Given the description of an element on the screen output the (x, y) to click on. 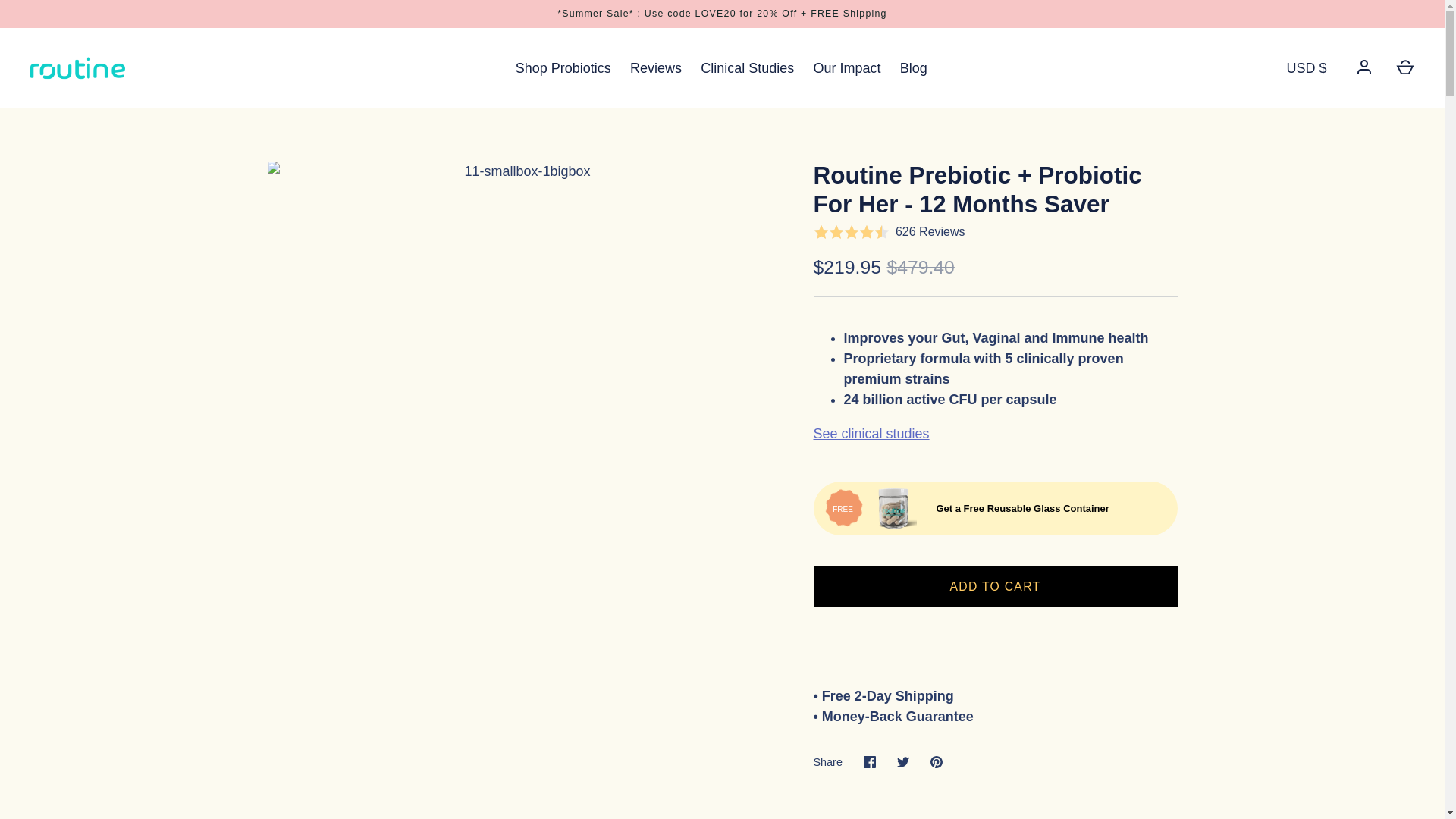
Blog (912, 68)
Pin it (936, 761)
Routine Strains Clinical Studies (870, 433)
Shop Probiotics (562, 68)
Clinical Studies (747, 68)
Share on Twitter (903, 761)
ADD TO CART (994, 586)
Our Impact (846, 68)
See clinical studies (870, 433)
Share on Facebook (869, 761)
